Given the description of an element on the screen output the (x, y) to click on. 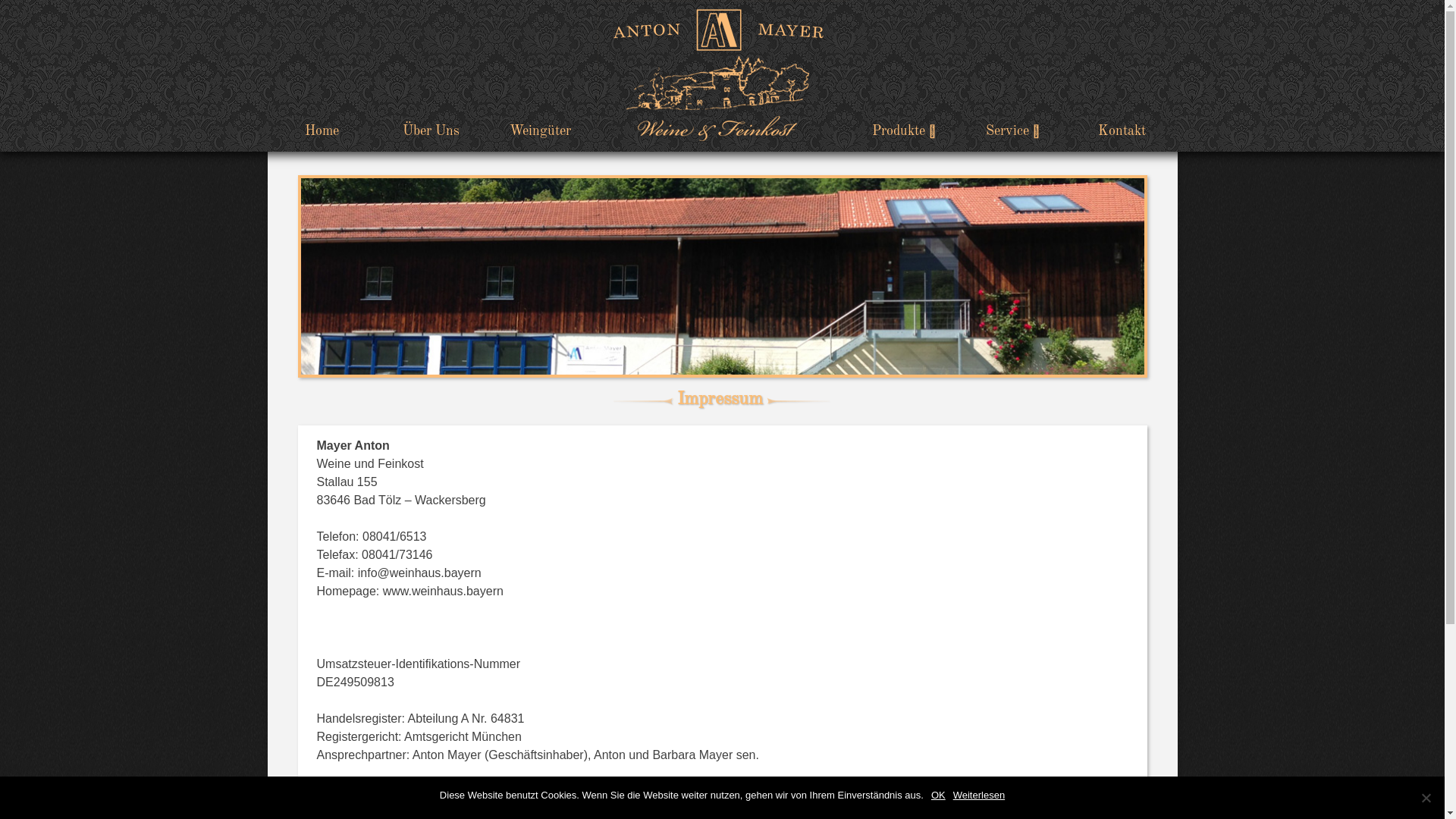
OK Element type: text (938, 795)
Skip to content Element type: text (0, 0)
Service Element type: text (1012, 131)
Nein Element type: hover (1425, 797)
Produkte Element type: text (903, 131)
Weiterlesen Element type: text (978, 795)
Kontakt Element type: text (1121, 131)
Home Element type: text (321, 131)
